Given the description of an element on the screen output the (x, y) to click on. 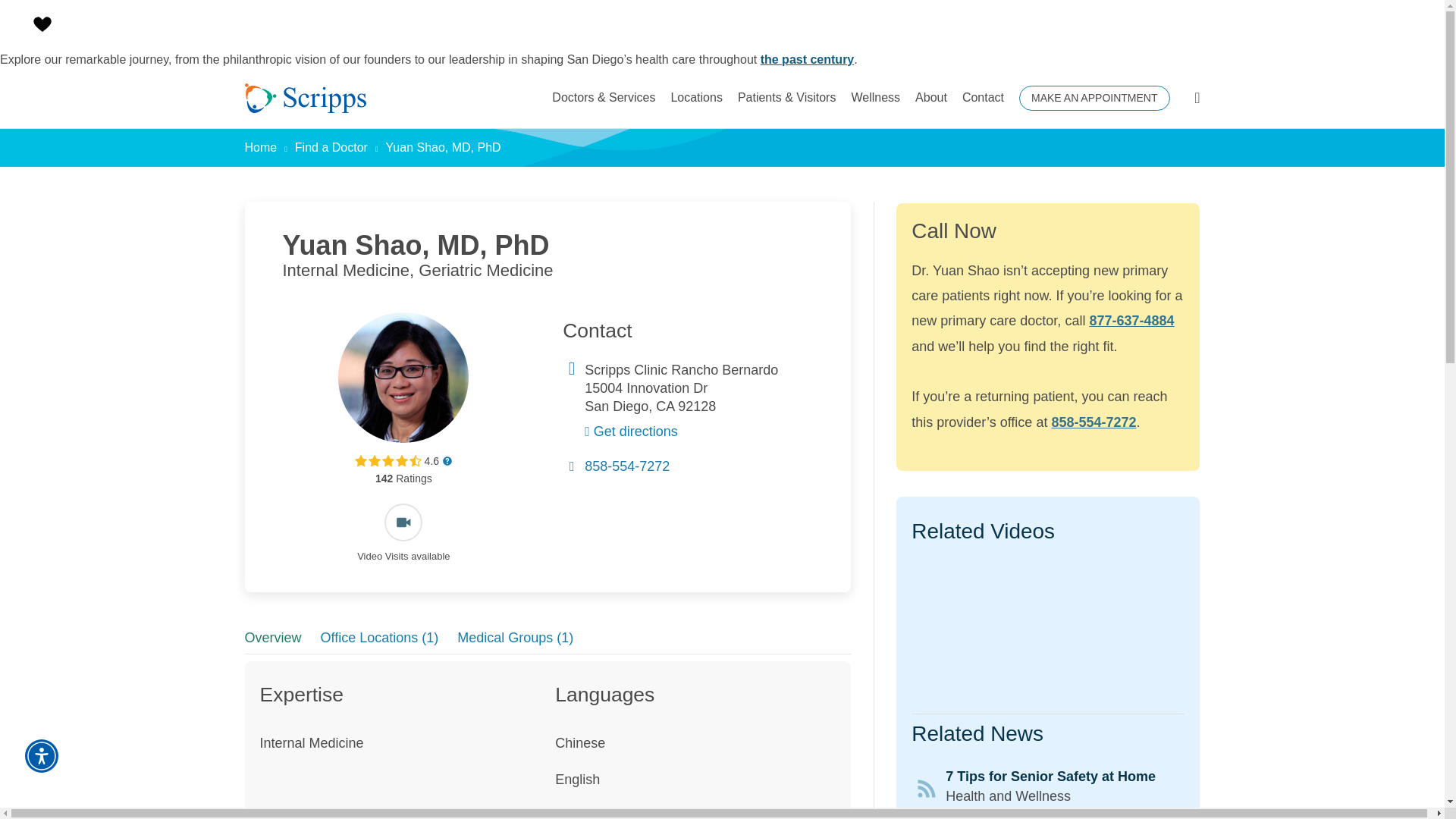
Locations (695, 97)
Accessibility Menu (41, 756)
Wellness (874, 97)
92128 (697, 406)
California (665, 406)
youtube (1048, 629)
858-554-7272 (627, 466)
the past century (807, 59)
